Given the description of an element on the screen output the (x, y) to click on. 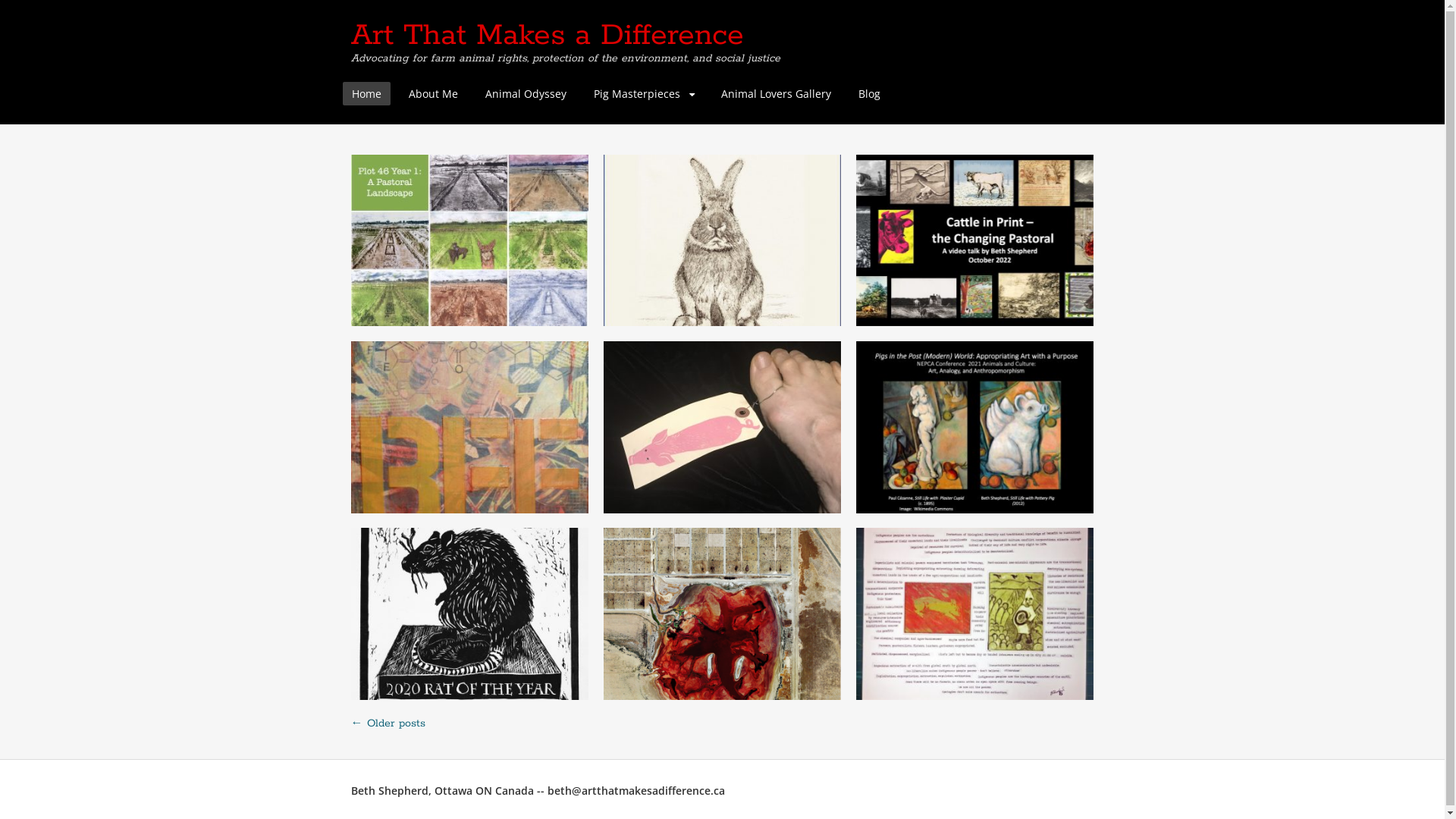
Pig Masterpieces Element type: text (642, 93)
Blog Element type: text (869, 93)
Home Element type: text (366, 93)
Skip to content Element type: text (351, 85)
About Me Element type: text (432, 93)
Art That Makes a Difference Element type: text (546, 35)
Animal Odyssey Element type: text (525, 93)
Animal Lovers Gallery Element type: text (775, 93)
